Given the description of an element on the screen output the (x, y) to click on. 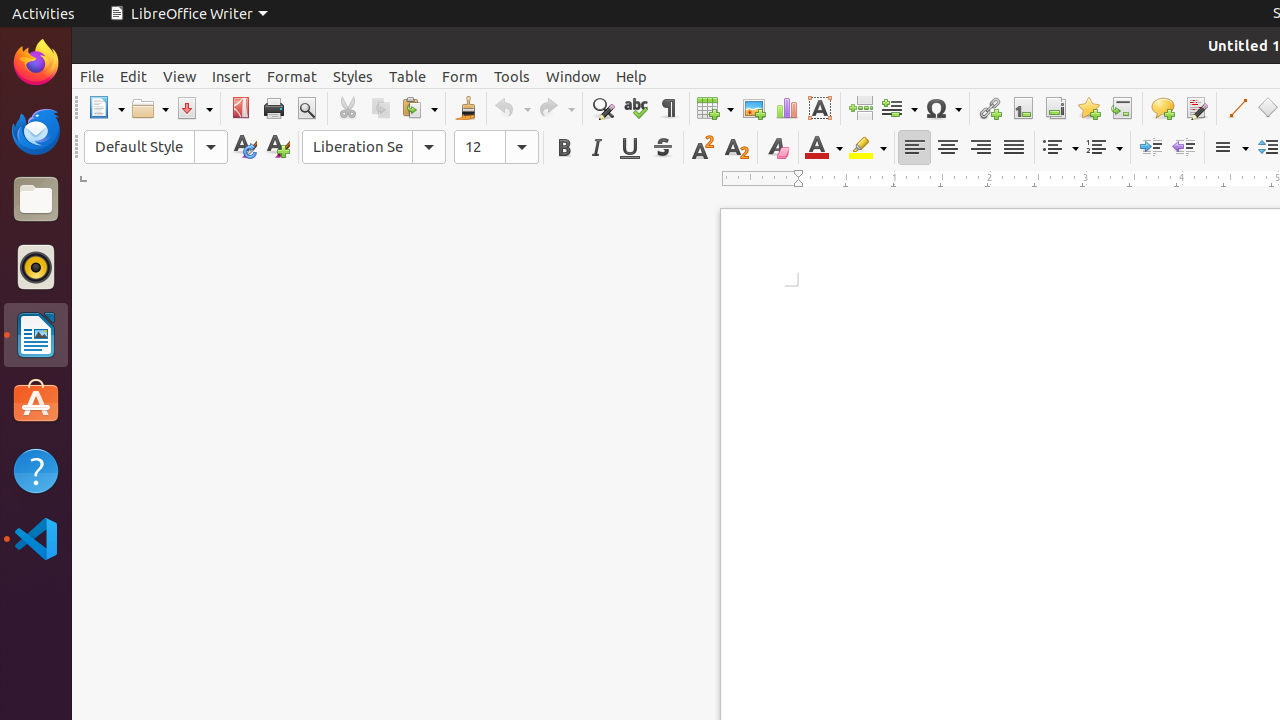
Bookmark Element type: push-button (1088, 108)
Strikethrough Element type: toggle-button (662, 147)
Line Spacing Element type: push-button (1230, 147)
File Element type: menu (92, 76)
Underline Element type: push-button (629, 147)
